Given the description of an element on the screen output the (x, y) to click on. 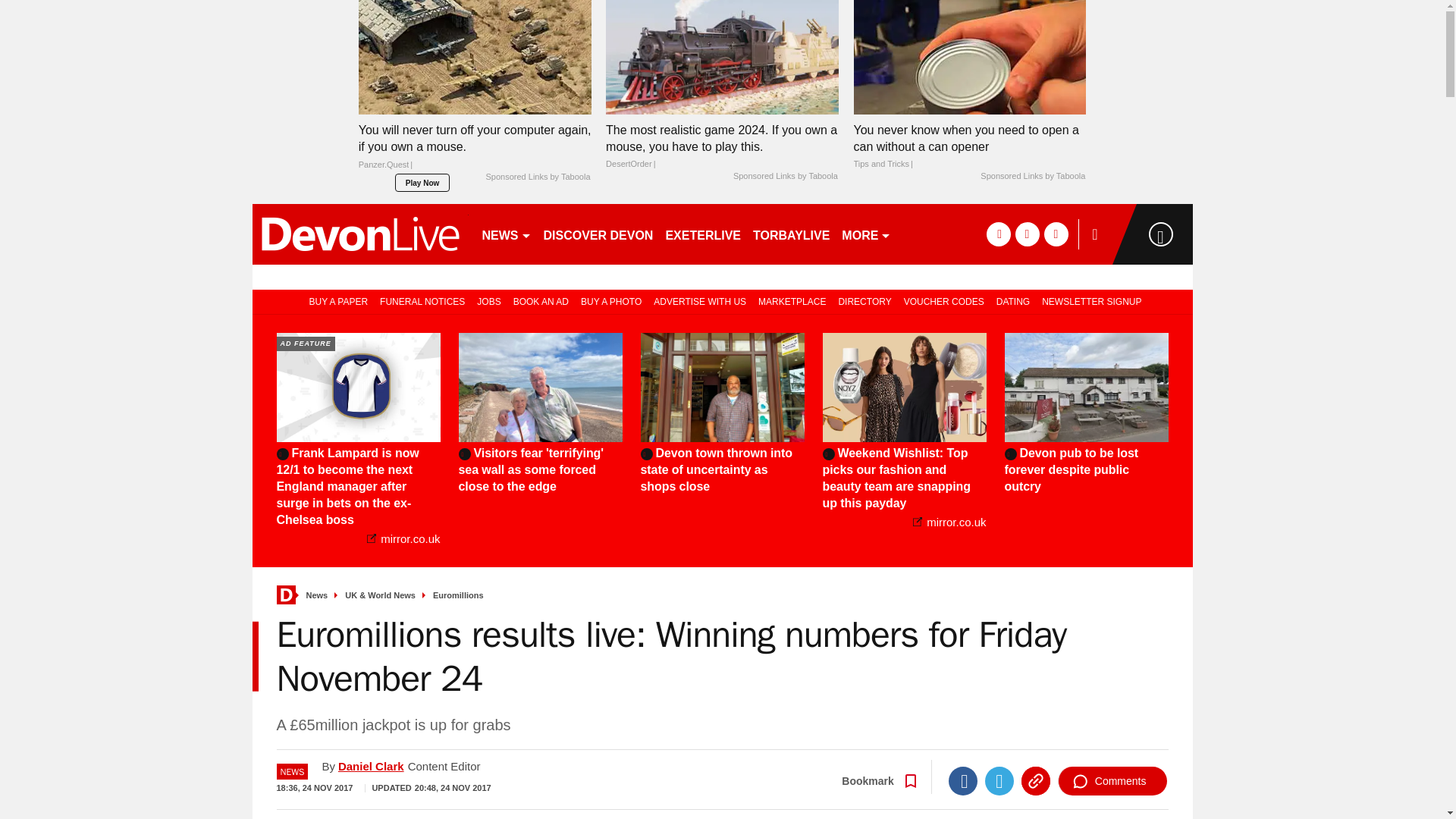
devonlive (359, 233)
Sponsored Links by Taboola (1031, 176)
Play Now (421, 182)
twitter (1026, 233)
instagram (1055, 233)
Comments (1112, 780)
Sponsored Links by Taboola (785, 176)
NEWS (506, 233)
Sponsored Links by Taboola (536, 176)
Facebook (962, 780)
